Given the description of an element on the screen output the (x, y) to click on. 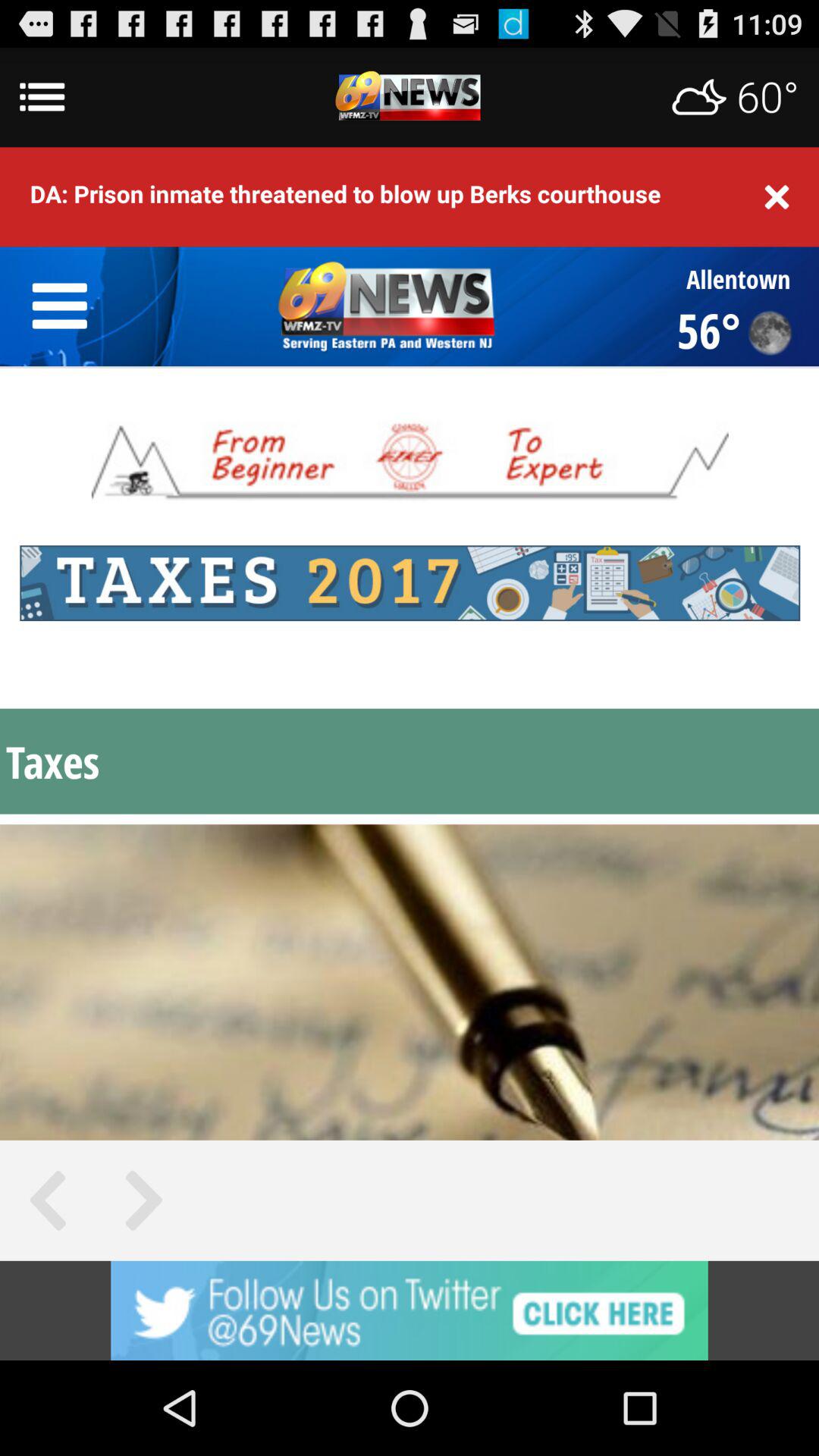
add option (409, 1310)
